Given the description of an element on the screen output the (x, y) to click on. 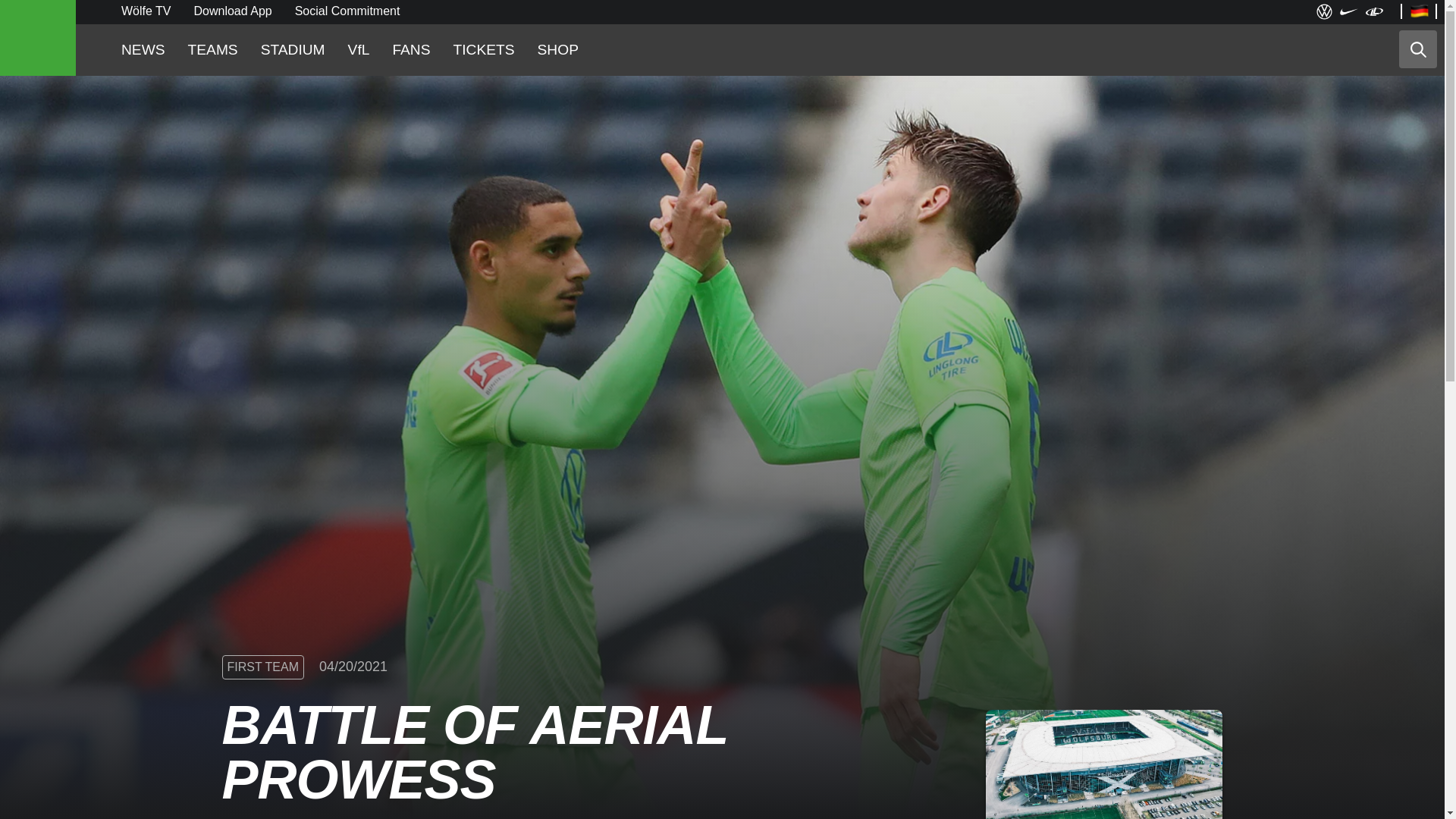
Download App (232, 11)
TEAMS (212, 49)
STADIUM (292, 49)
NEWS (142, 49)
Das Logo von Nike. (1348, 11)
Crunch meeting at the Volkswagen Arena (1104, 764)
Social Commitment (347, 11)
